Given the description of an element on the screen output the (x, y) to click on. 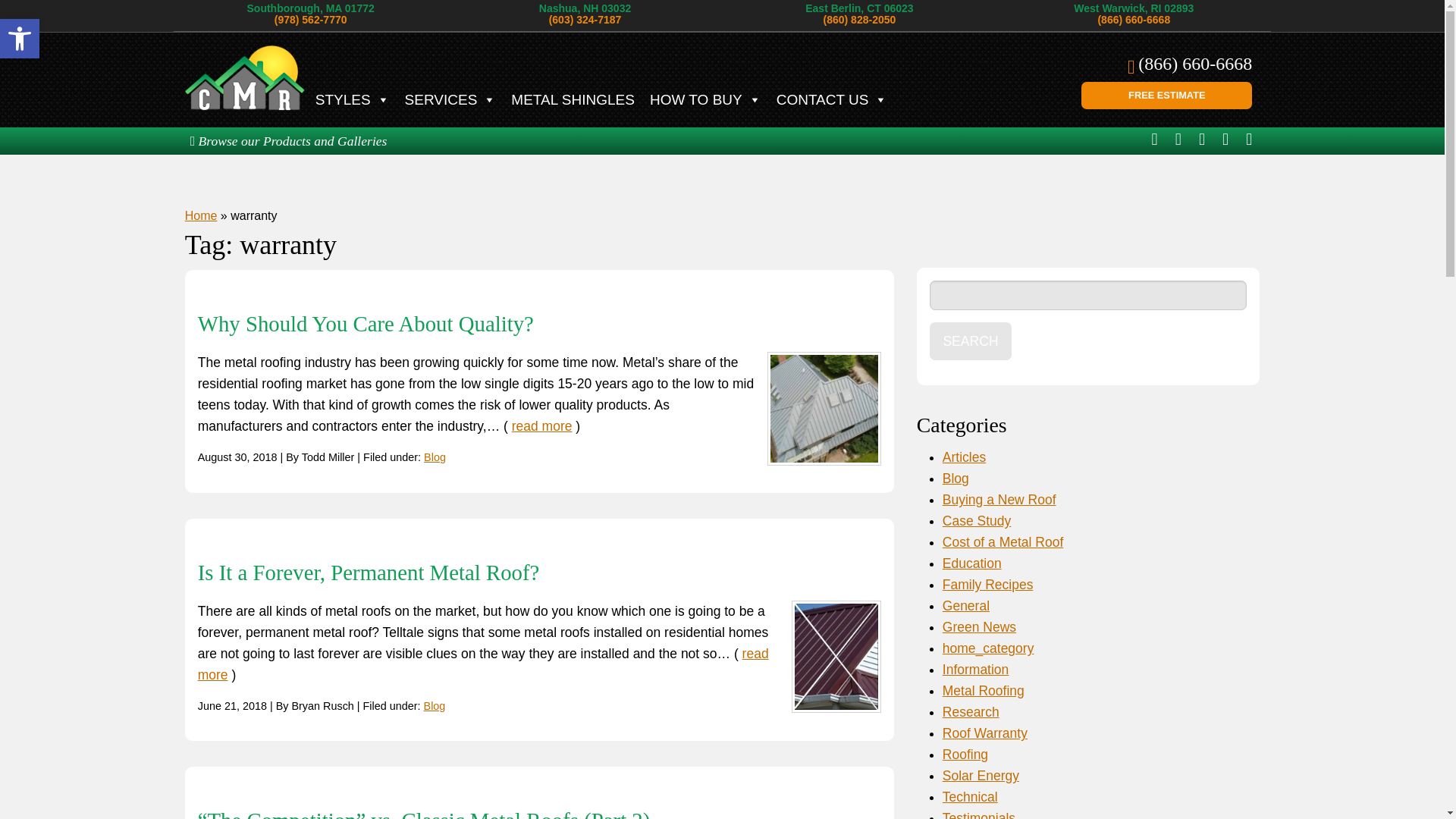
Search (970, 341)
HOW TO BUY (705, 99)
Click to call! (1195, 63)
SERVICES (19, 38)
Accessibility Tools (450, 99)
STYLES (19, 38)
METAL SHINGLES (352, 99)
Accessibility Tools (572, 99)
FREE ESTIMATE (19, 38)
